Given the description of an element on the screen output the (x, y) to click on. 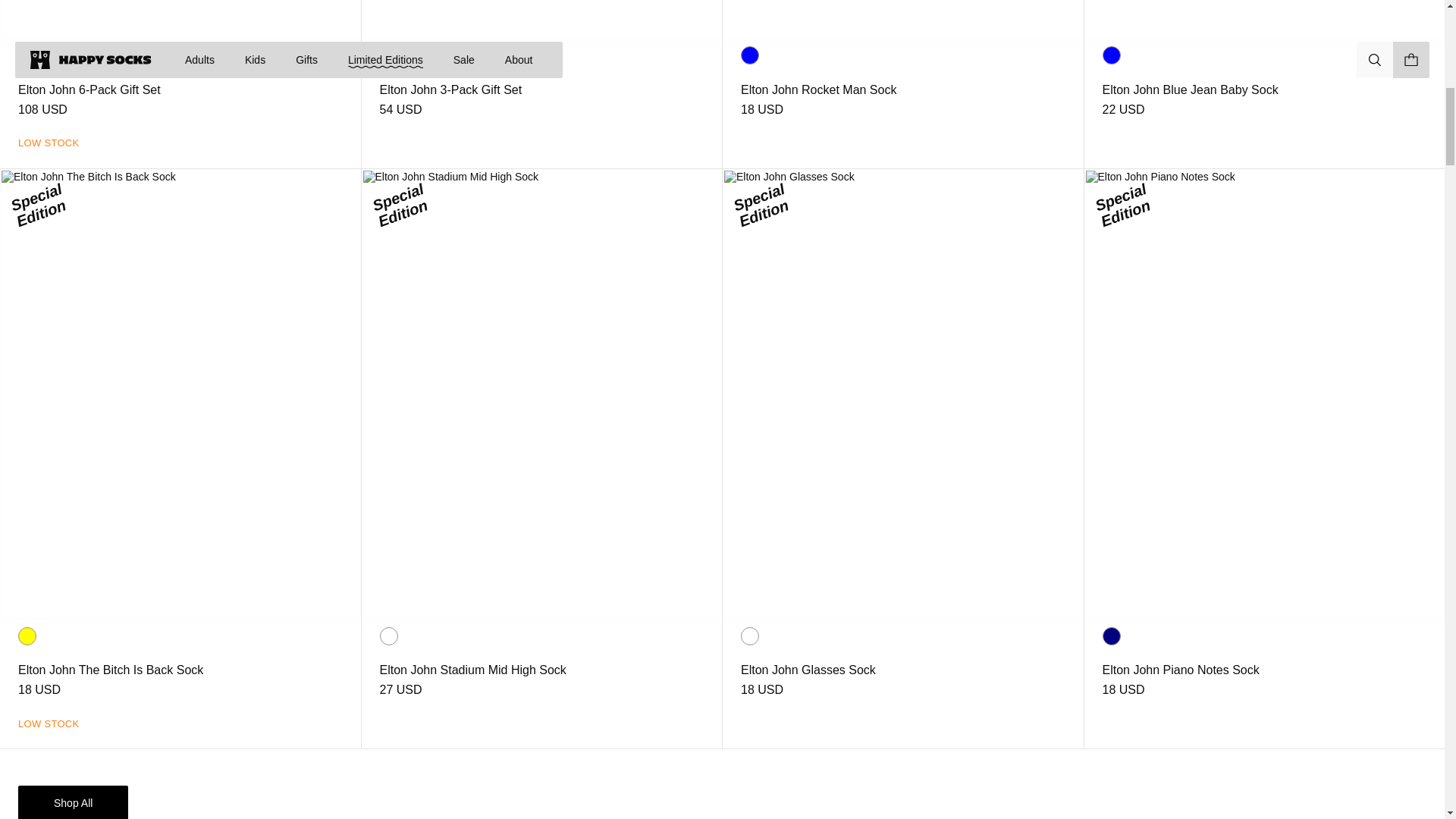
Elton John 3-Pack Gift Set (449, 89)
Elton John 6-Pack Gift Set (88, 89)
Elton John Rocket Man Sock (818, 89)
